Given the description of an element on the screen output the (x, y) to click on. 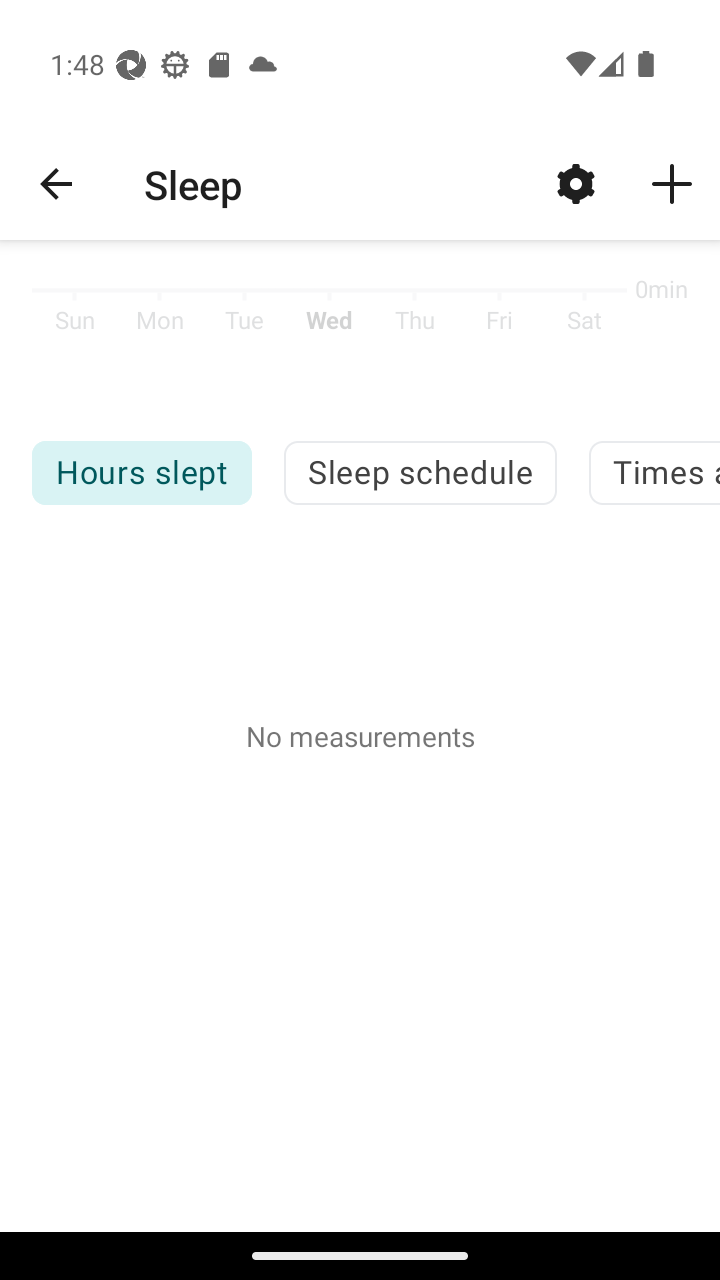
Navigate up (56, 184)
Adjust your goal (575, 183)
Tap to track sleep or
 log a past record (672, 183)
Hours slept (141, 472)
Sleep schedule (420, 472)
Times awakened (654, 472)
